Given the description of an element on the screen output the (x, y) to click on. 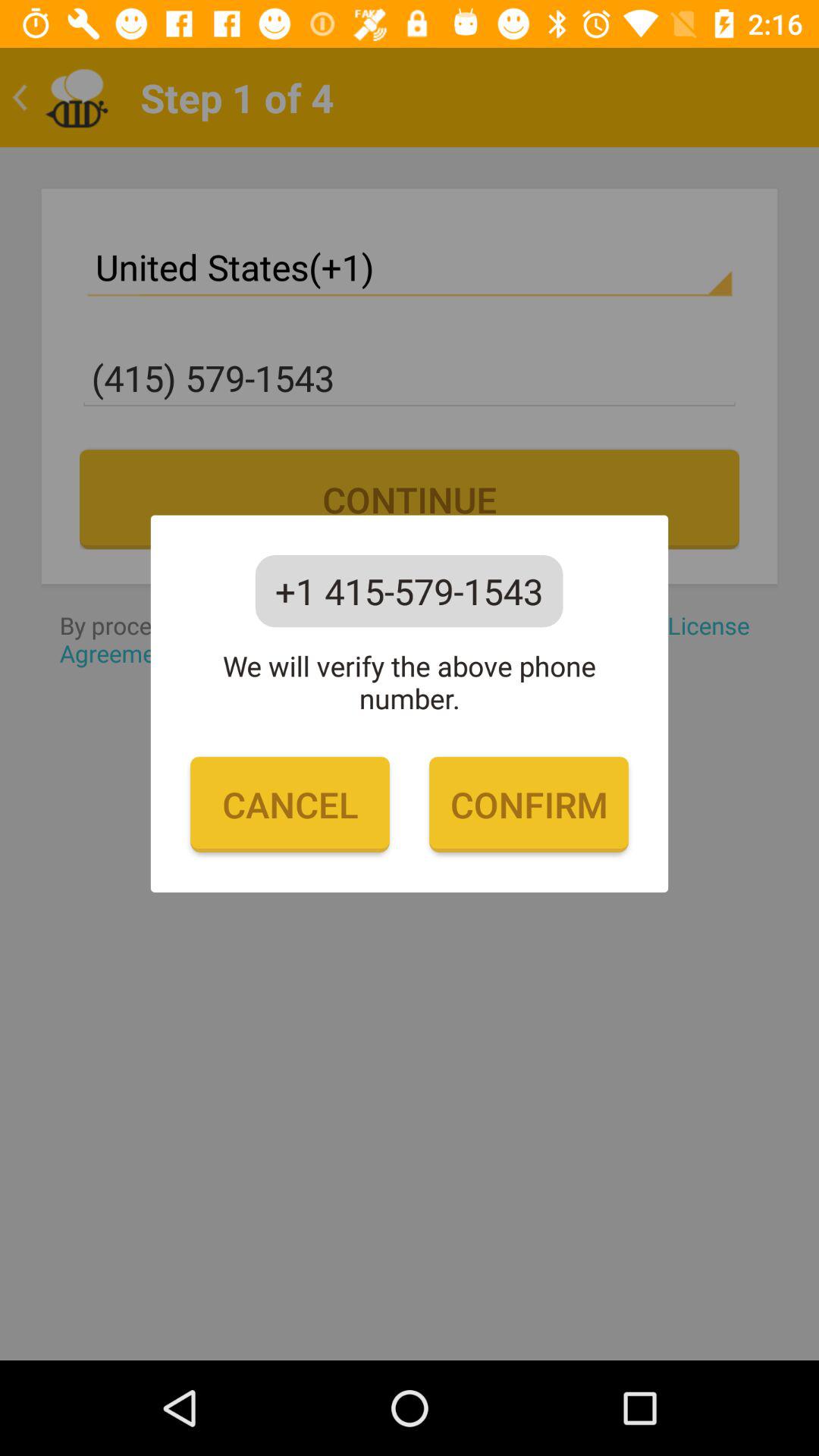
click the icon below we will verify (289, 804)
